Given the description of an element on the screen output the (x, y) to click on. 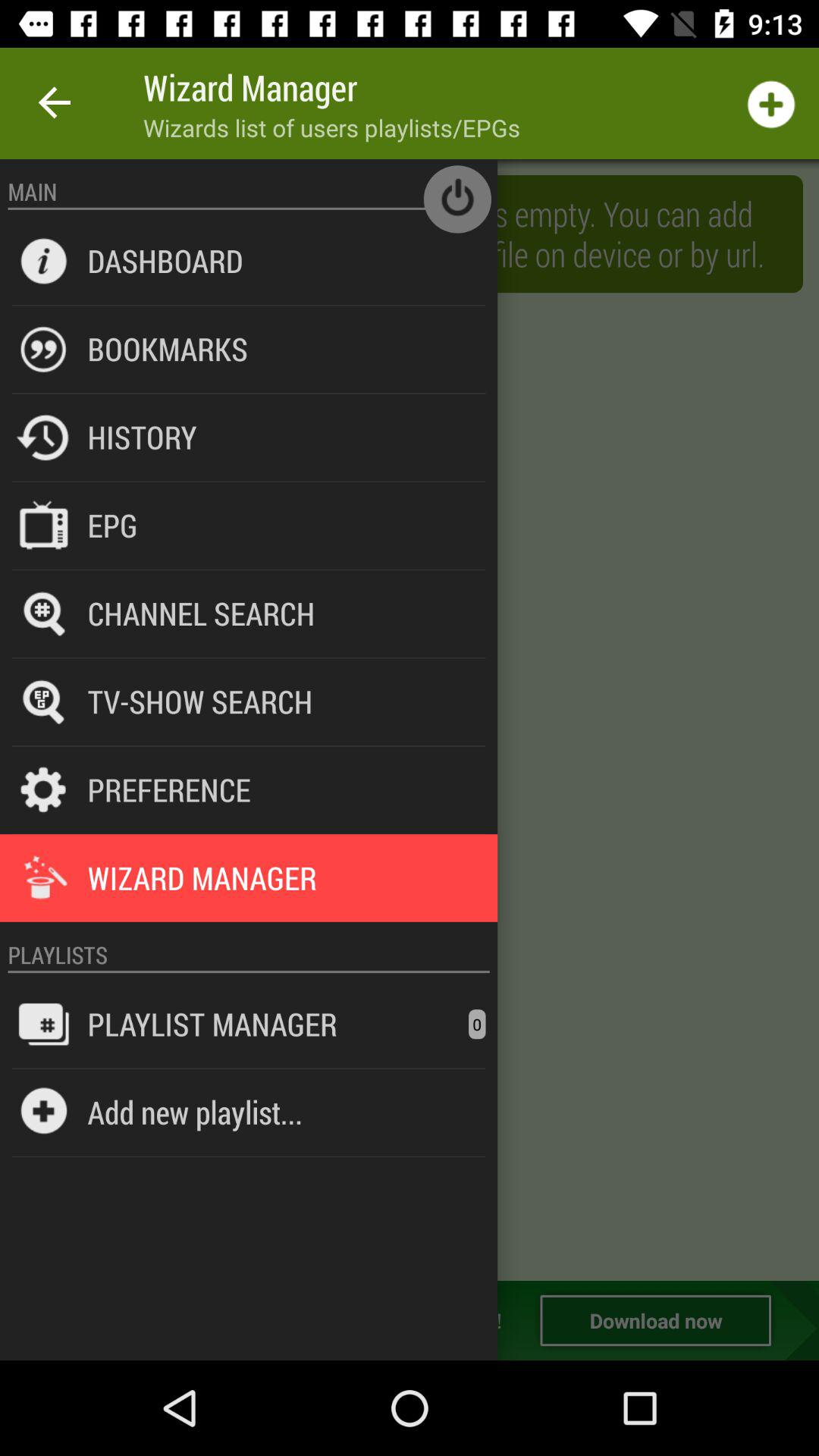
switch off the page (457, 199)
